Given the description of an element on the screen output the (x, y) to click on. 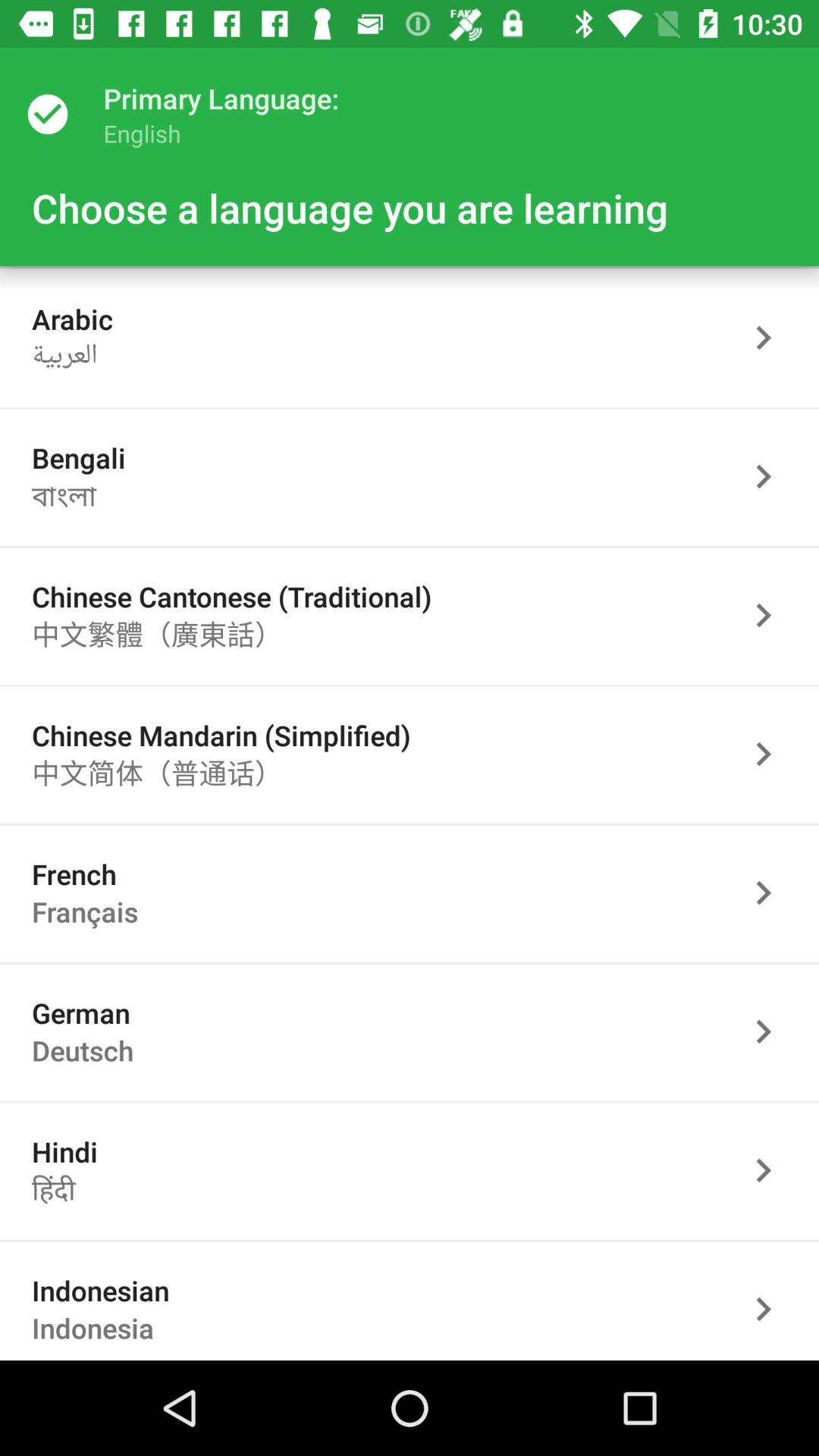
go to bengali menu (771, 476)
